Given the description of an element on the screen output the (x, y) to click on. 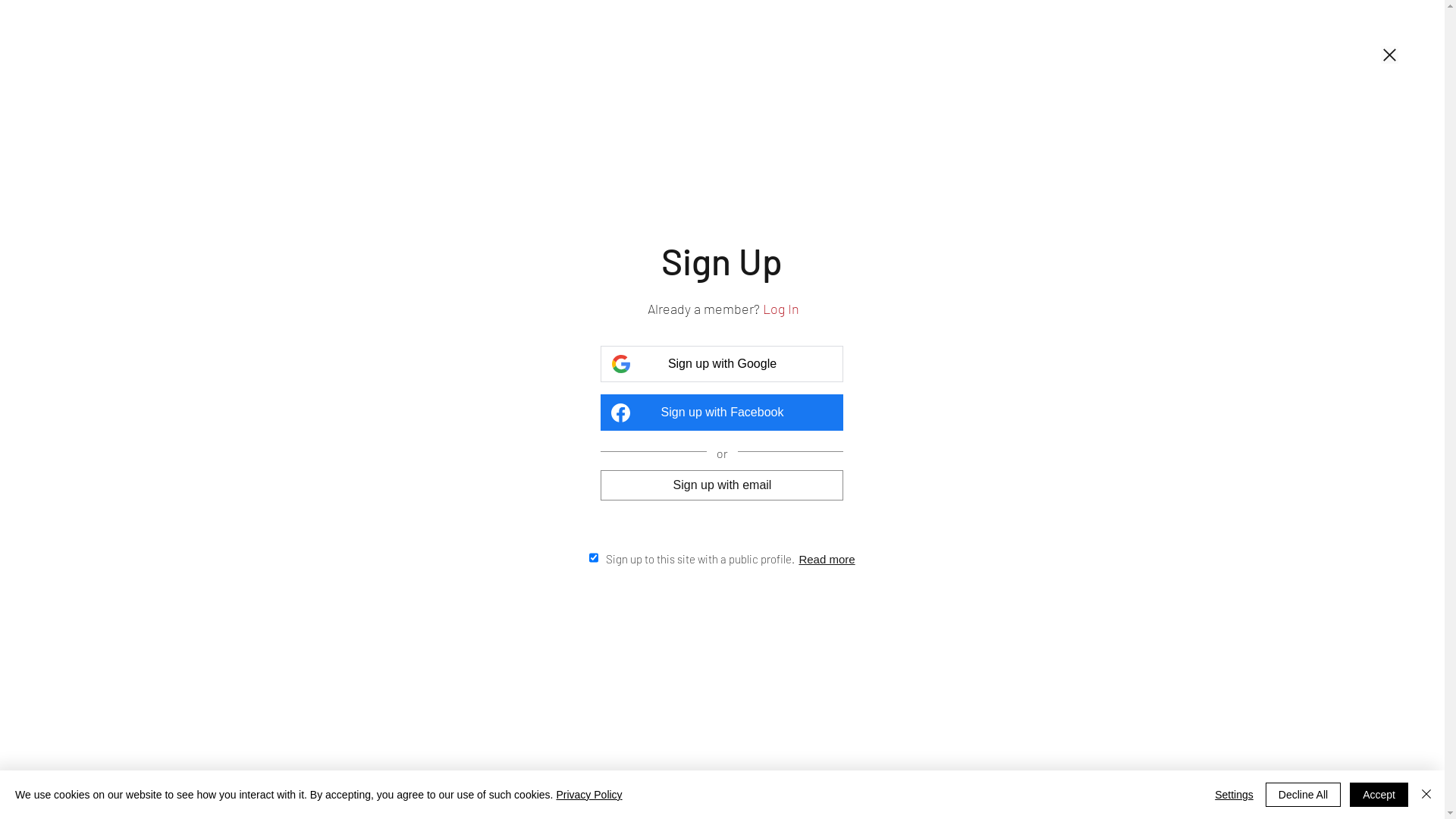
Decline All Element type: text (1302, 794)
Sign up with Google Element type: text (721, 363)
Privacy Policy Element type: text (588, 794)
Accept Element type: text (1378, 794)
Sign up with email Element type: text (721, 485)
Sign up with Facebook Element type: text (721, 412)
Log In Element type: text (780, 309)
Read more Element type: text (826, 558)
